Given the description of an element on the screen output the (x, y) to click on. 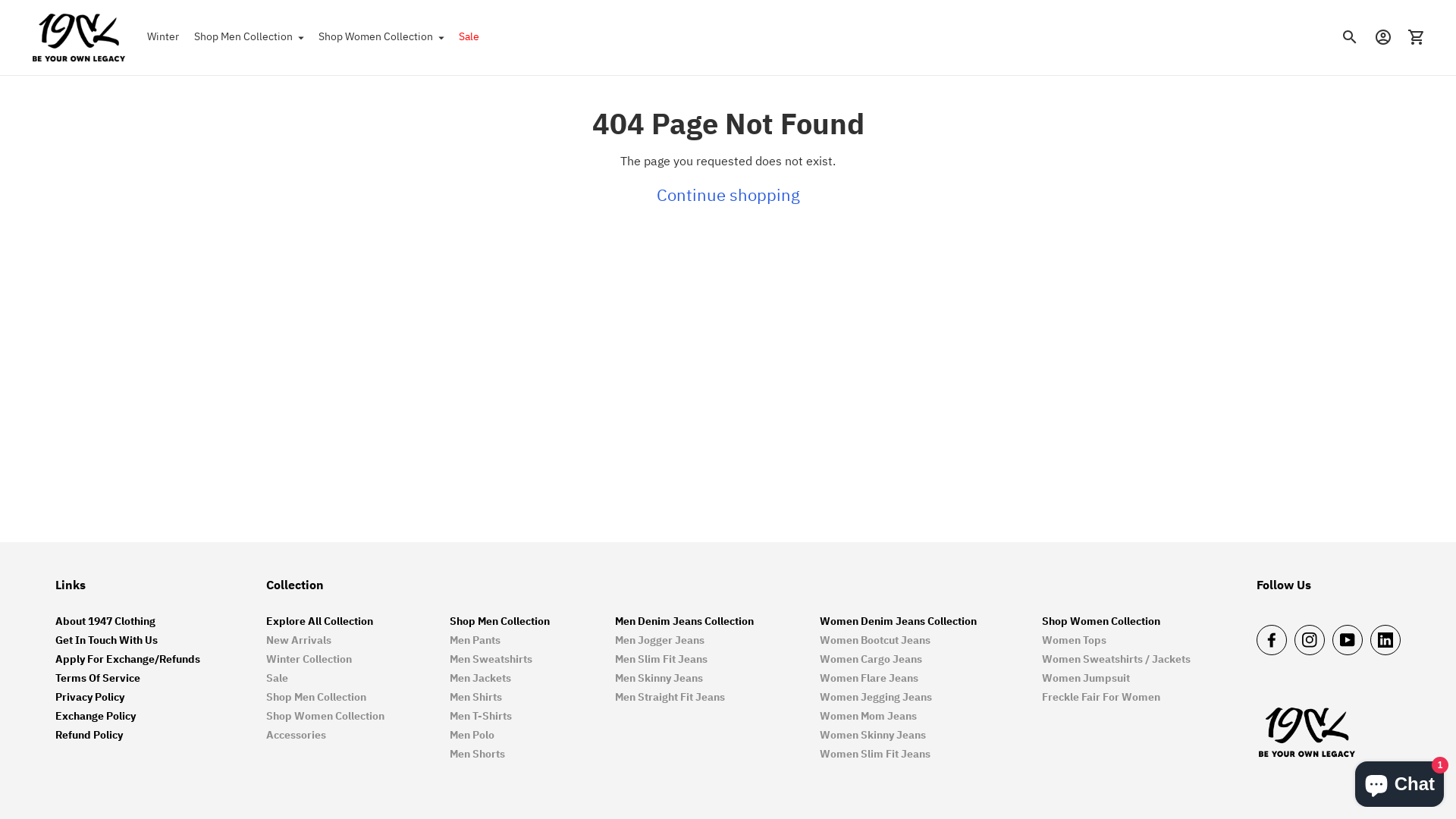
Winter Collection Element type: text (308, 660)
Explore All Collection Element type: text (319, 622)
Shop Women Collection Element type: text (1100, 622)
Women Tops Element type: text (1073, 641)
Women Flare Jeans Element type: text (868, 679)
Men Polo Element type: text (471, 736)
Men Skinny Jeans Element type: text (658, 679)
Cart Element type: hover (1416, 36)
Privacy Policy Element type: text (89, 698)
Women Skinny Jeans Element type: text (872, 736)
Men Jogger Jeans Element type: text (659, 641)
Women Jumpsuit Element type: text (1085, 679)
Men Denim Jeans Collection Element type: text (684, 622)
Women Mom Jeans Element type: text (867, 717)
Shop Women Collection Element type: text (325, 717)
Men Pants Element type: text (474, 641)
Women Bootcut Jeans Element type: text (874, 641)
Exchange Policy Element type: text (95, 717)
Men T-Shirts Element type: text (480, 717)
Continue shopping Element type: text (728, 194)
Women Slim Fit Jeans Element type: text (874, 755)
Freckle Fair For Women Element type: text (1100, 698)
Men Straight Fit Jeans Element type: text (669, 698)
Shop Men Collection Element type: text (248, 36)
Search Element type: hover (1349, 36)
Sale Element type: text (277, 679)
About 1947 Clothing Element type: text (105, 622)
Terms Of Service Element type: text (97, 679)
Shop Women Collection Element type: text (380, 36)
Accessories Element type: text (296, 736)
Shop Men Collection Element type: text (499, 622)
Men Slim Fit Jeans Element type: text (661, 660)
Shopify online store chat Element type: hover (1399, 780)
Men Shorts Element type: text (477, 755)
Shop Men Collection Element type: text (316, 698)
Get In Touch With Us Element type: text (106, 641)
Refund Policy Element type: text (88, 736)
Vimeo Element type: text (1385, 639)
Men Sweatshirts Element type: text (490, 660)
Women Cargo Jeans Element type: text (870, 660)
New Arrivals Element type: text (298, 641)
Sale Element type: text (468, 36)
Facebook Element type: text (1271, 639)
YouTube Element type: text (1347, 639)
Instagram Element type: text (1309, 639)
Women Denim Jeans Collection Element type: text (897, 622)
Women Sweatshirts / Jackets Element type: text (1115, 660)
Account Element type: hover (1382, 36)
Winter Element type: text (162, 36)
Apply For Exchange/Refunds Element type: text (127, 660)
Men Shirts Element type: text (475, 698)
Men Jackets Element type: text (480, 679)
Women Jegging Jeans Element type: text (875, 698)
